Given the description of an element on the screen output the (x, y) to click on. 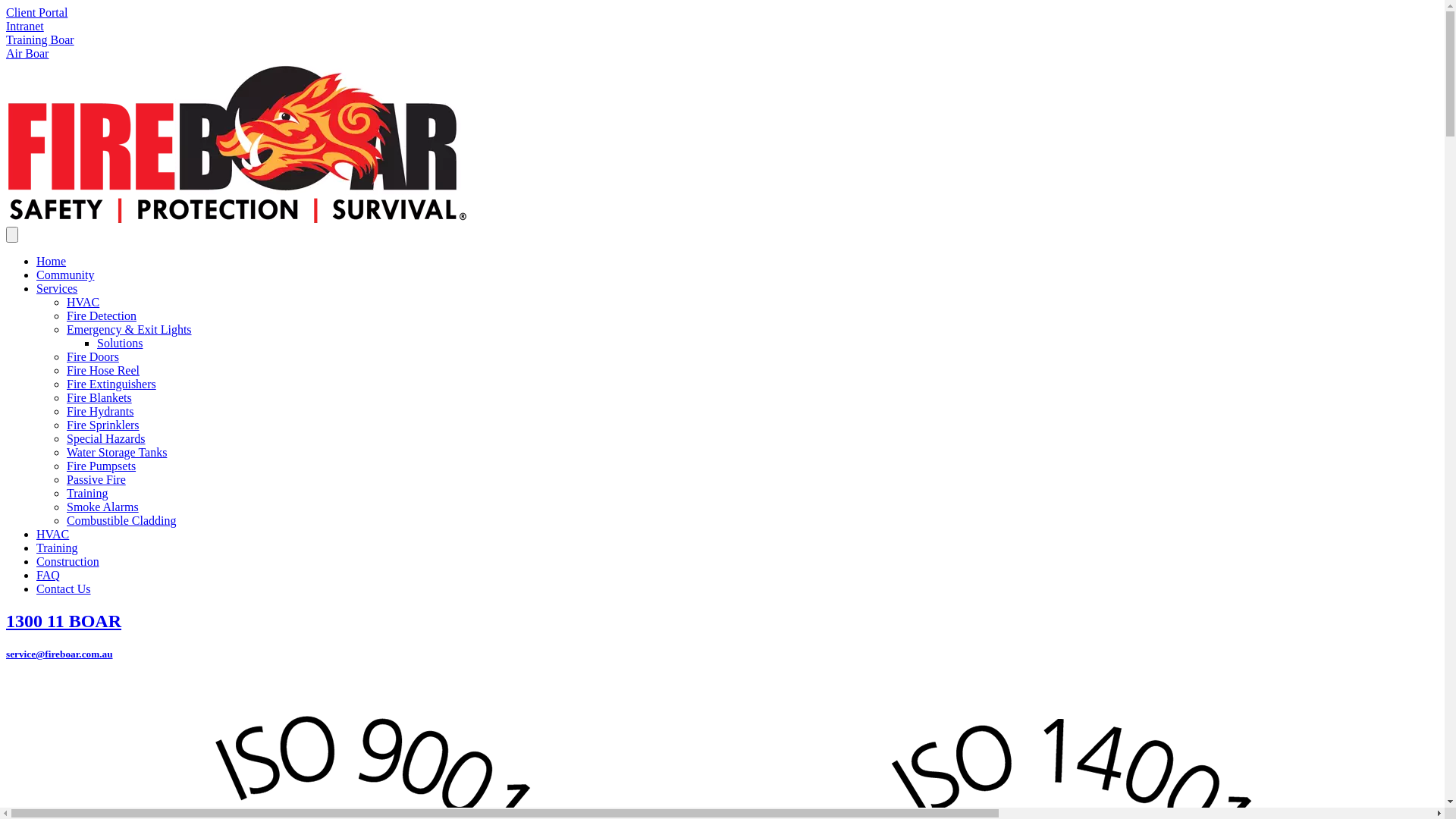
FAQ Element type: text (47, 574)
Solutions Element type: text (119, 342)
Fire Hydrants Element type: text (99, 410)
Fire Pumpsets Element type: text (100, 465)
SmallRectangle-LogoSPS Element type: hover (237, 141)
Client Portal Element type: text (36, 12)
Emergency & Exit Lights Element type: text (128, 329)
Fire Detection Element type: text (101, 315)
Fire Extinguishers Element type: text (111, 383)
HVAC Element type: text (52, 533)
HVAC Element type: text (82, 301)
Combustible Cladding Element type: text (120, 520)
service@fireboar.com.au Element type: text (59, 653)
Fire Hose Reel Element type: text (102, 370)
Contact Us Element type: text (63, 588)
Fire Doors Element type: text (92, 356)
Services Element type: text (56, 288)
Training Element type: text (57, 547)
Intranet Element type: text (24, 25)
Fire Sprinklers Element type: text (102, 424)
Fire Blankets Element type: text (98, 397)
Smoke Alarms Element type: text (102, 506)
Passive Fire Element type: text (95, 479)
Training Element type: text (87, 492)
Community Element type: text (65, 274)
Training Boar Element type: text (40, 39)
Water Storage Tanks Element type: text (116, 451)
Construction Element type: text (67, 561)
1300 11 BOAR Element type: text (722, 621)
Home Element type: text (50, 260)
Special Hazards Element type: text (105, 438)
Air Boar Element type: text (27, 53)
